Given the description of an element on the screen output the (x, y) to click on. 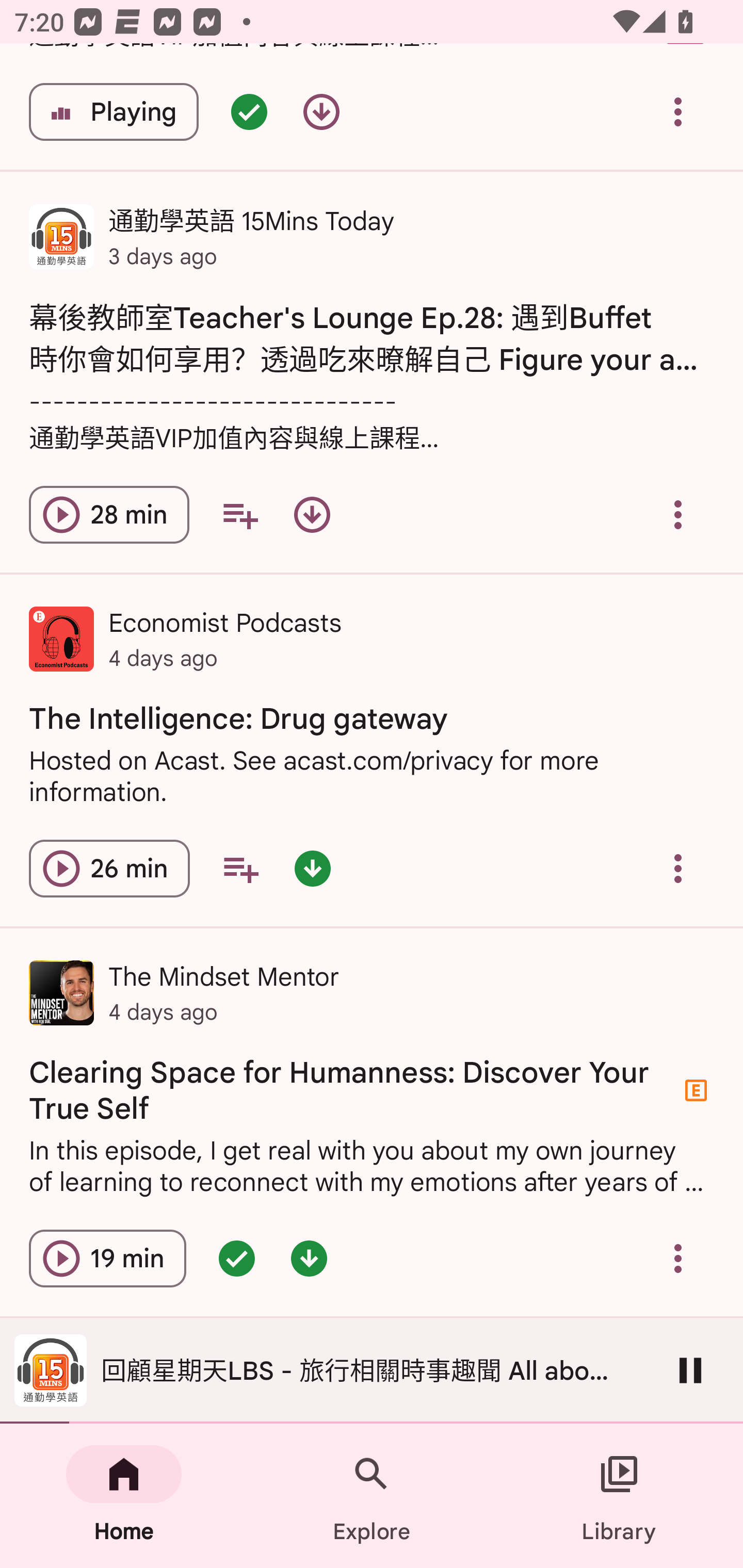
Episode queued - double tap for options (249, 111)
Download episode (321, 111)
Overflow menu (677, 111)
Add to your queue (239, 514)
Download episode (312, 514)
Overflow menu (677, 514)
Play episode The Intelligence: Drug gateway 26 min (109, 868)
Add to your queue (240, 868)
Episode downloaded - double tap for options (312, 868)
Overflow menu (677, 868)
Episode queued - double tap for options (236, 1258)
Episode downloaded - double tap for options (308, 1258)
Overflow menu (677, 1258)
Economist Podcasts Economist Podcasts 5 days ago (371, 1370)
Pause (690, 1370)
Explore (371, 1495)
Library (619, 1495)
